Given the description of an element on the screen output the (x, y) to click on. 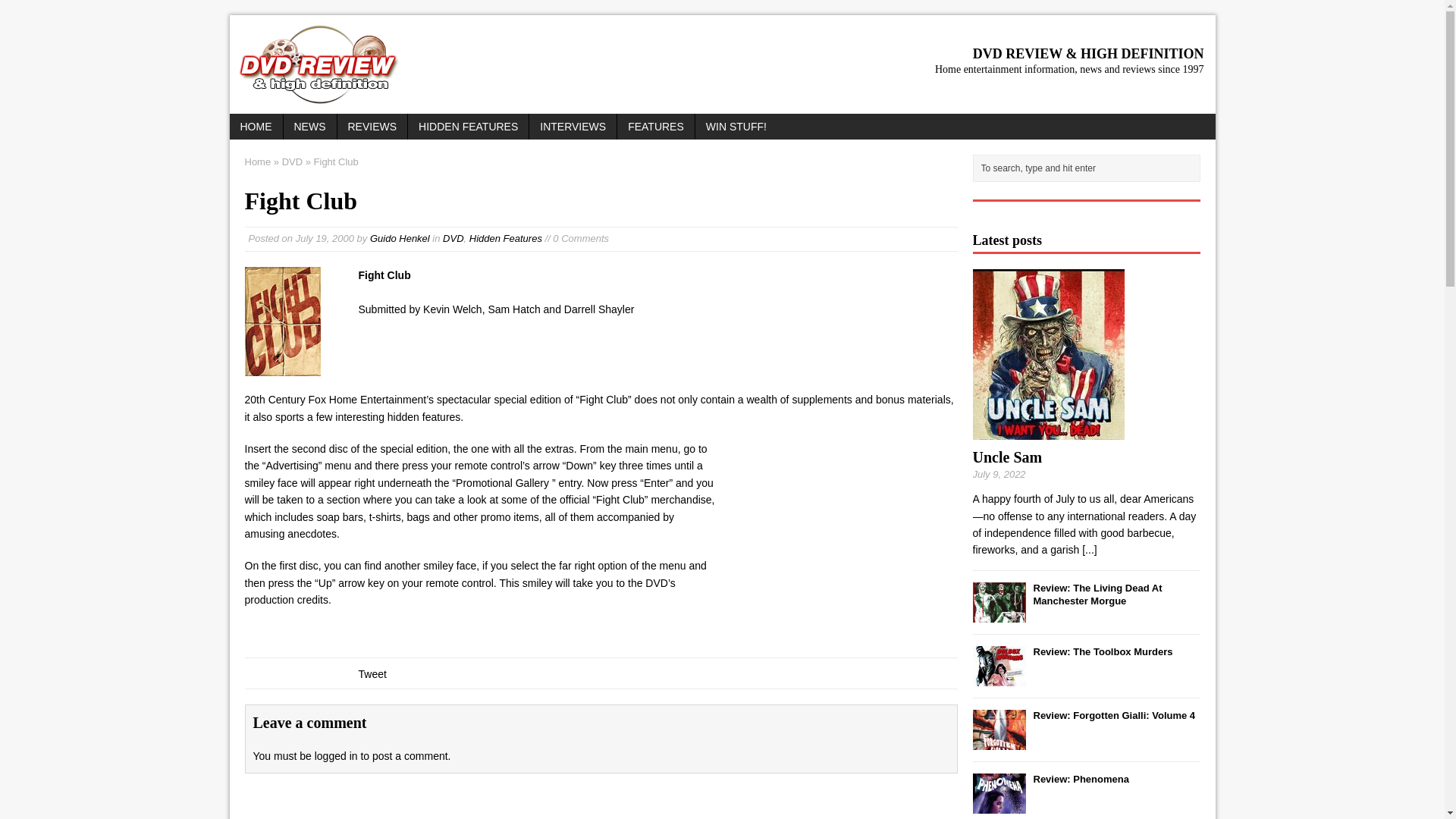
logged in (336, 756)
The Toolbox Murders (1102, 651)
To search, type and hit enter (1089, 167)
Phenomena (998, 804)
FEATURES (655, 126)
DVD (292, 161)
INTERVIEWS (572, 126)
Uncle Sam (1007, 457)
HIDDEN FEATURES (467, 126)
The Living Dead At Manchester Morgue (1096, 594)
